Given the description of an element on the screen output the (x, y) to click on. 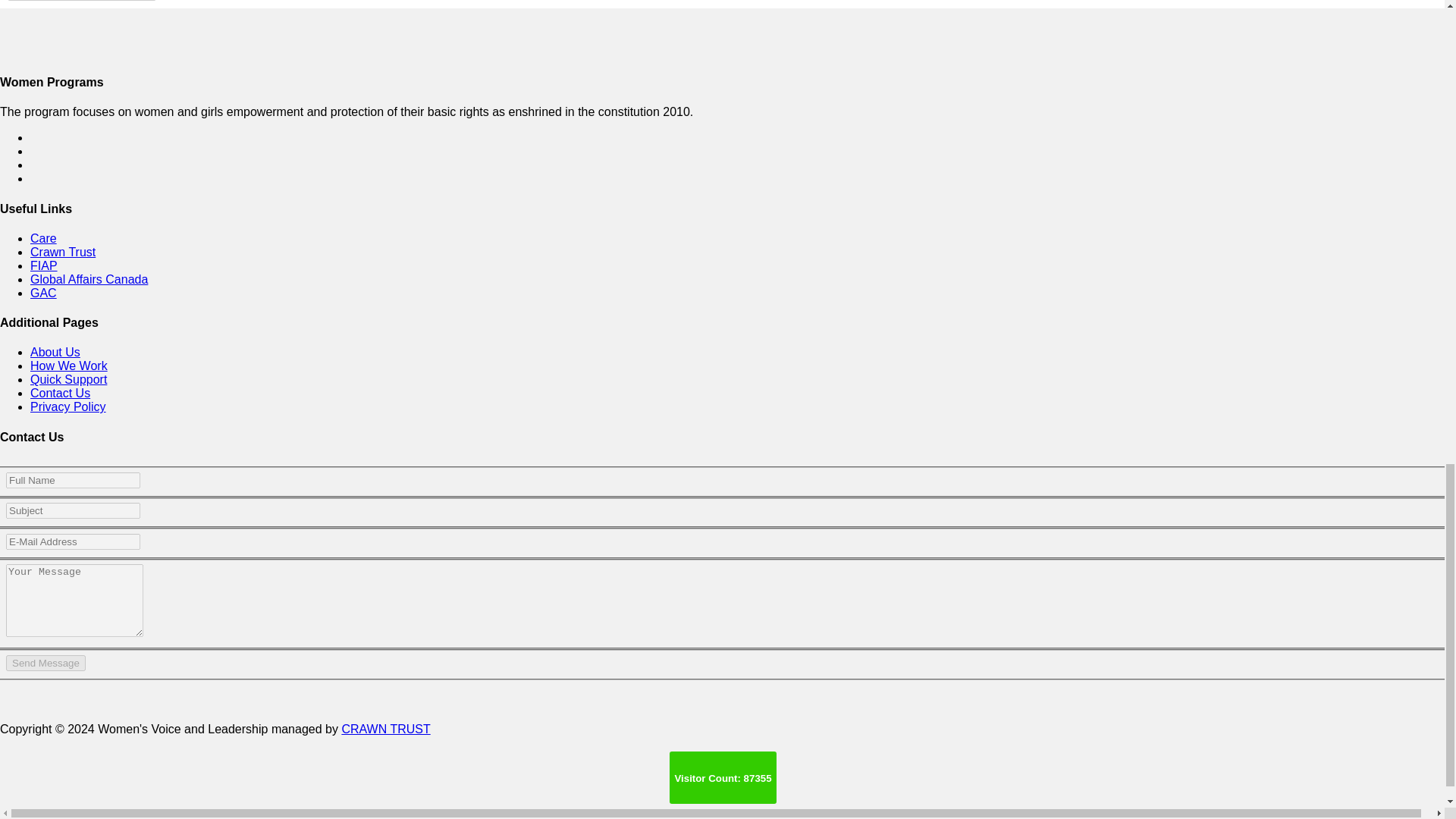
About Us (55, 351)
Global Affairs Canada (89, 278)
Send Message (45, 662)
Contact Us (60, 392)
How We Work (68, 365)
FIAP (44, 265)
Privacy Policy (68, 406)
Care (43, 237)
Crawn Trust (63, 251)
CRAWN TRUST (384, 728)
GAC (43, 292)
Quick Support (68, 379)
